Given the description of an element on the screen output the (x, y) to click on. 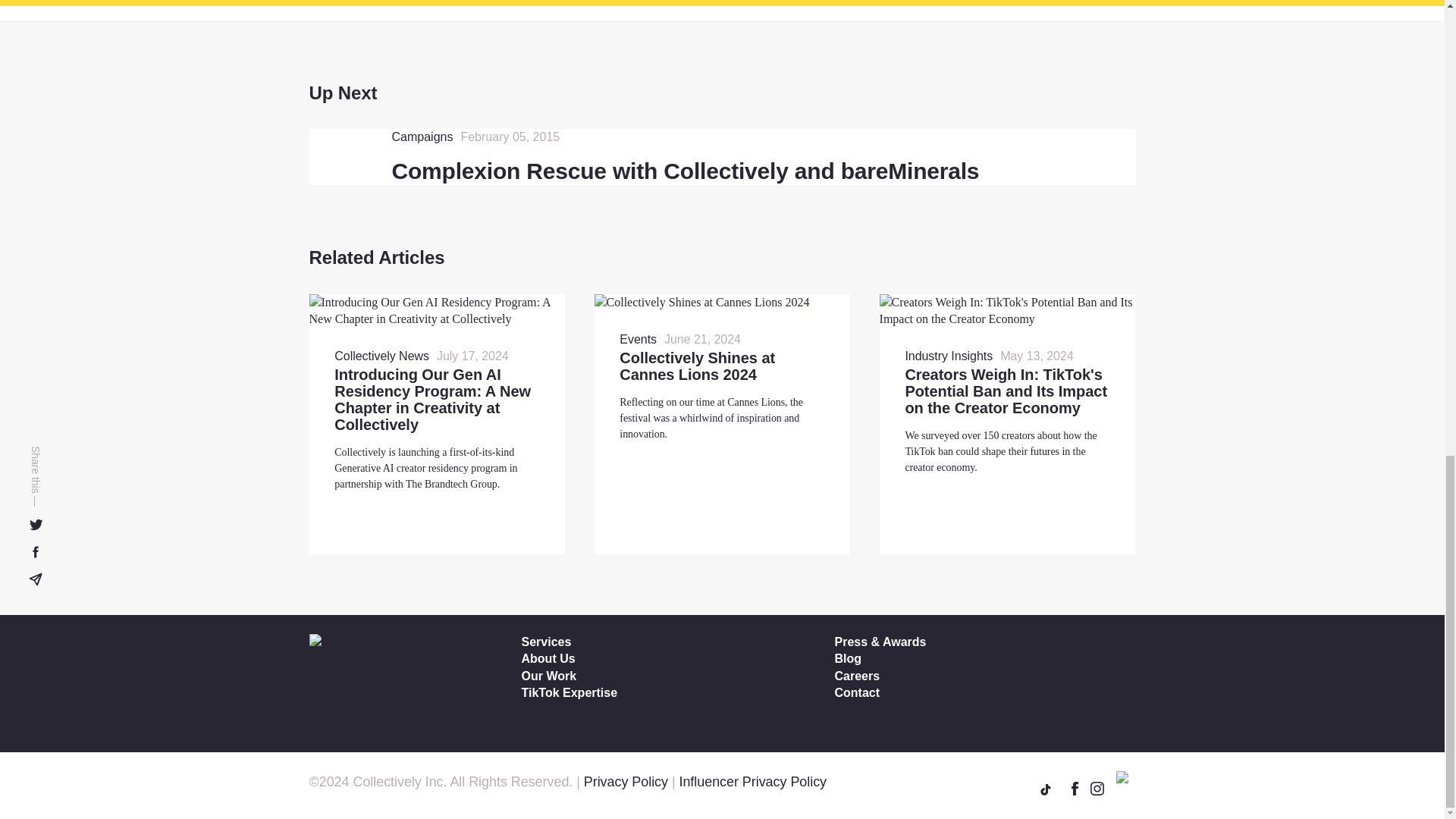
Collectively News (381, 356)
Events (638, 339)
Complexion Rescue with Collectively and bareMinerals (684, 170)
Campaigns (421, 136)
Collectively Shines at Cannes Lions 2024 (697, 366)
